Given the description of an element on the screen output the (x, y) to click on. 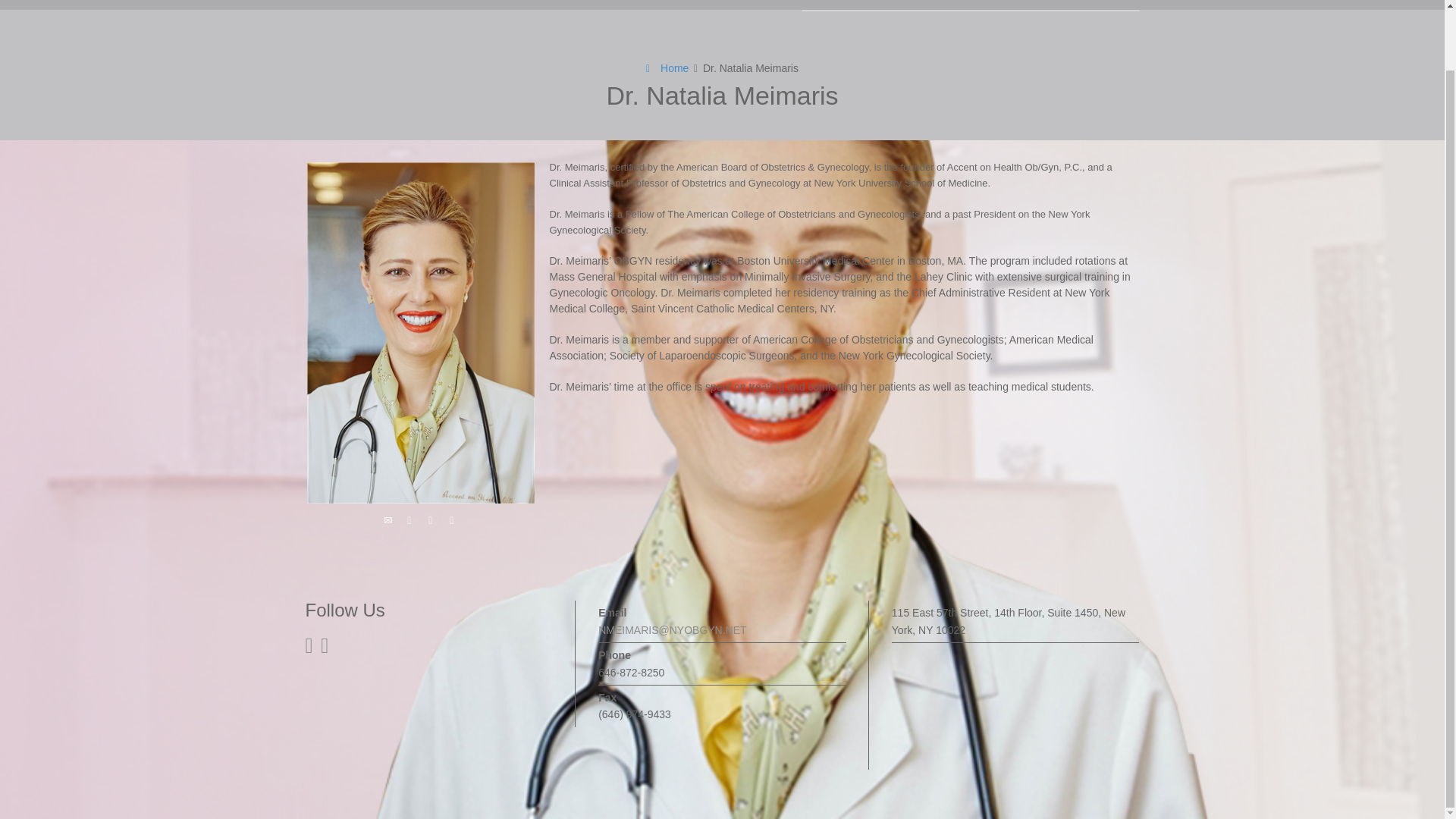
Home (823, 4)
Contact Us (1009, 4)
Email (387, 520)
Linkedin (451, 520)
Make a Payment (1090, 4)
About Us (874, 4)
Facebook (430, 520)
For Patients (940, 4)
Twitter (409, 520)
Home (667, 68)
